Given the description of an element on the screen output the (x, y) to click on. 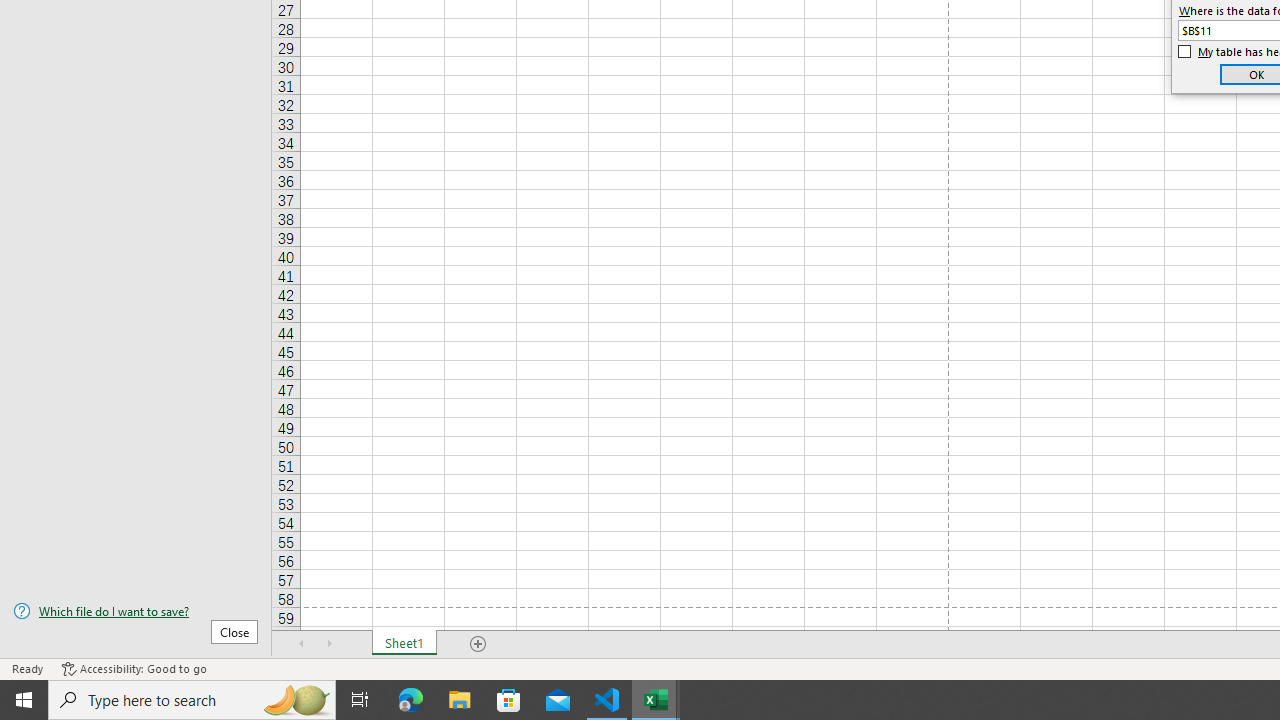
Which file do I want to save? (136, 611)
